Given the description of an element on the screen output the (x, y) to click on. 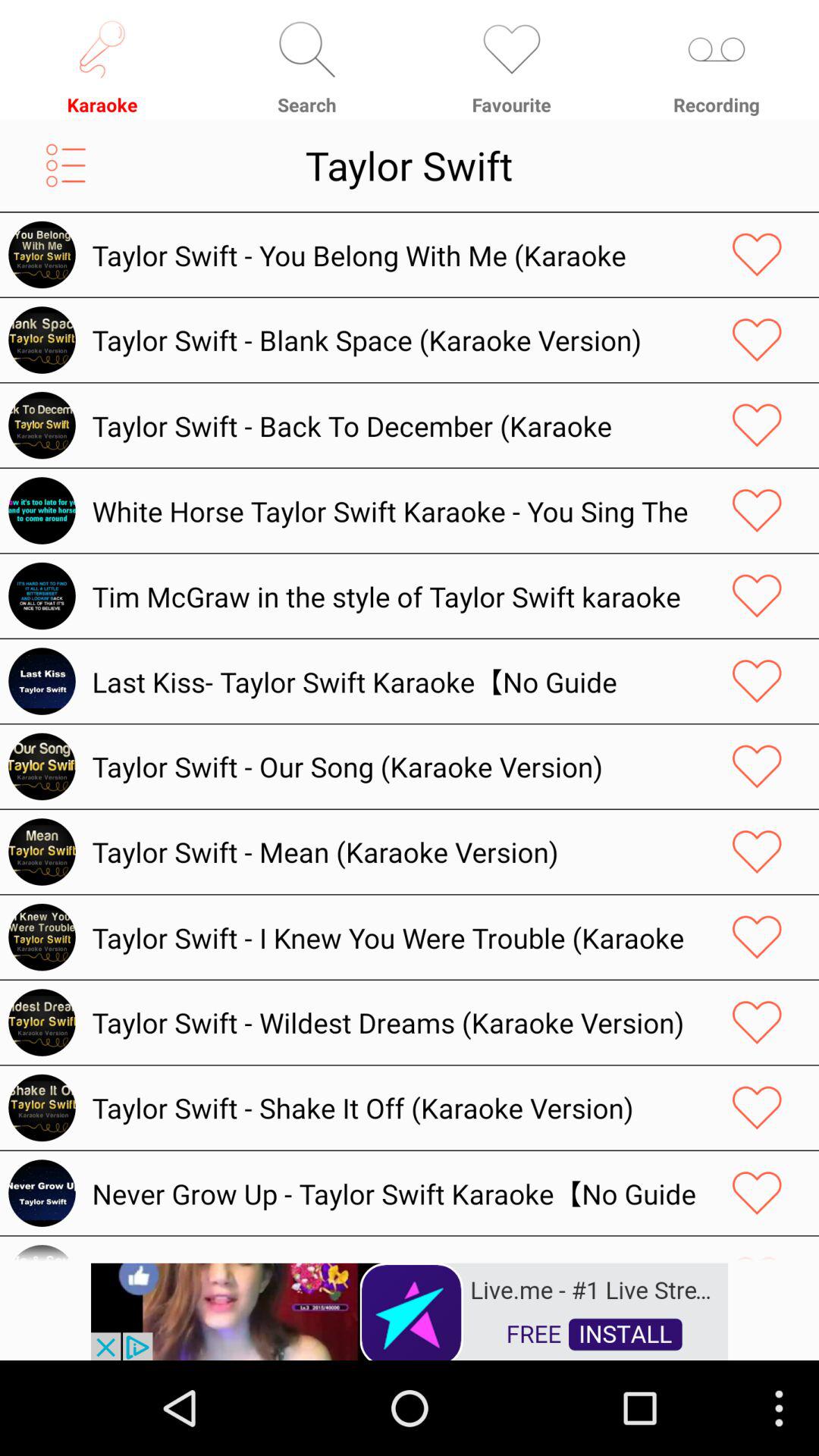
like option (756, 766)
